Given the description of an element on the screen output the (x, y) to click on. 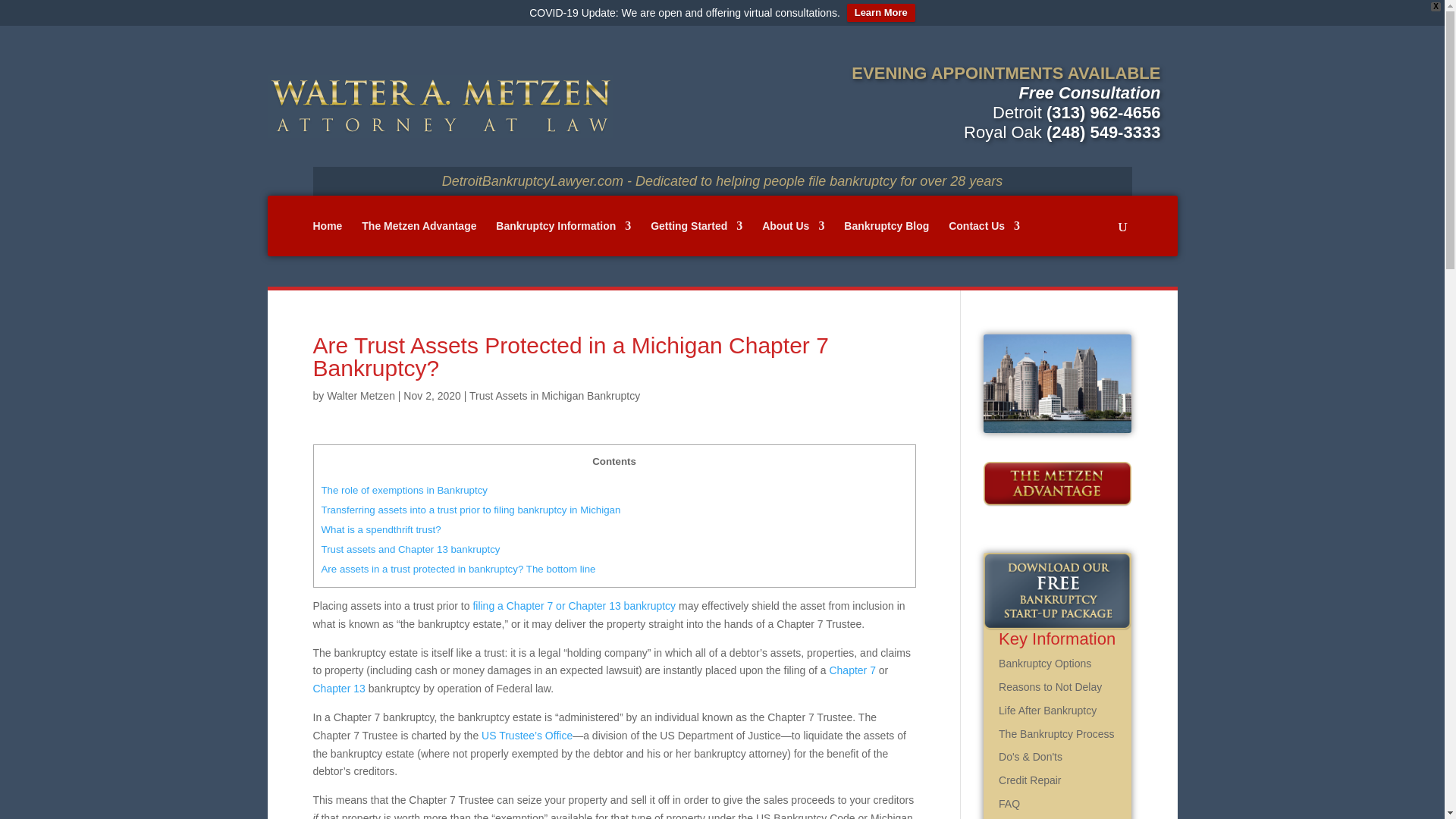
Getting Started (696, 238)
The role of exemptions in Bankruptcy (404, 490)
The Metzen Advantage (418, 238)
What is a spendthrift trust? (381, 529)
Contact Us (984, 238)
Posts by Walter Metzen (360, 395)
Walter Metzen (360, 395)
Trust assets and Chapter 13 bankruptcy (410, 549)
Learn More (881, 13)
